Given the description of an element on the screen output the (x, y) to click on. 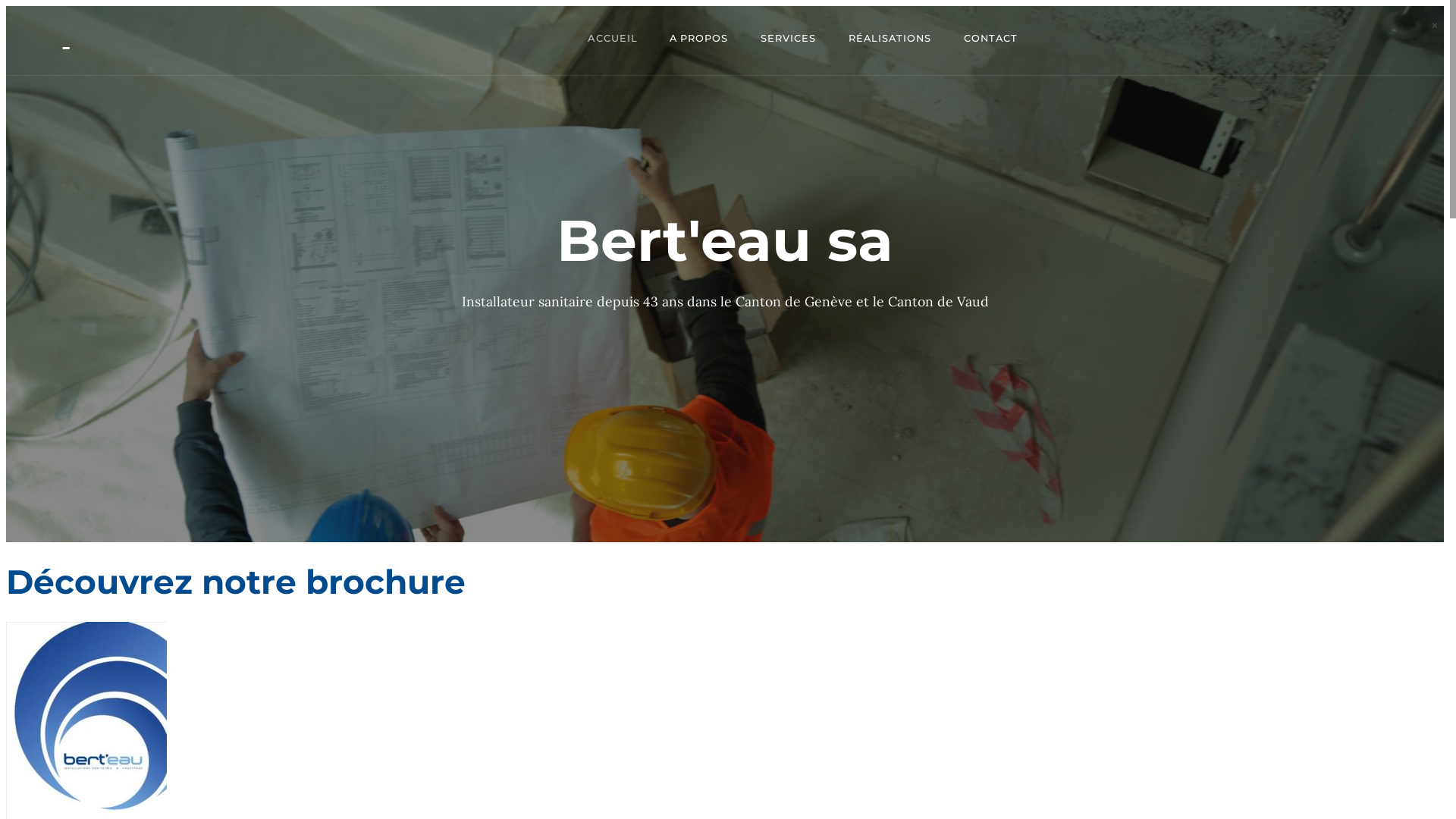
CONTACT Element type: text (990, 38)
A PROPOS Element type: text (698, 38)
SERVICES Element type: text (787, 38)
ACCUEIL Element type: text (612, 38)
